Given the description of an element on the screen output the (x, y) to click on. 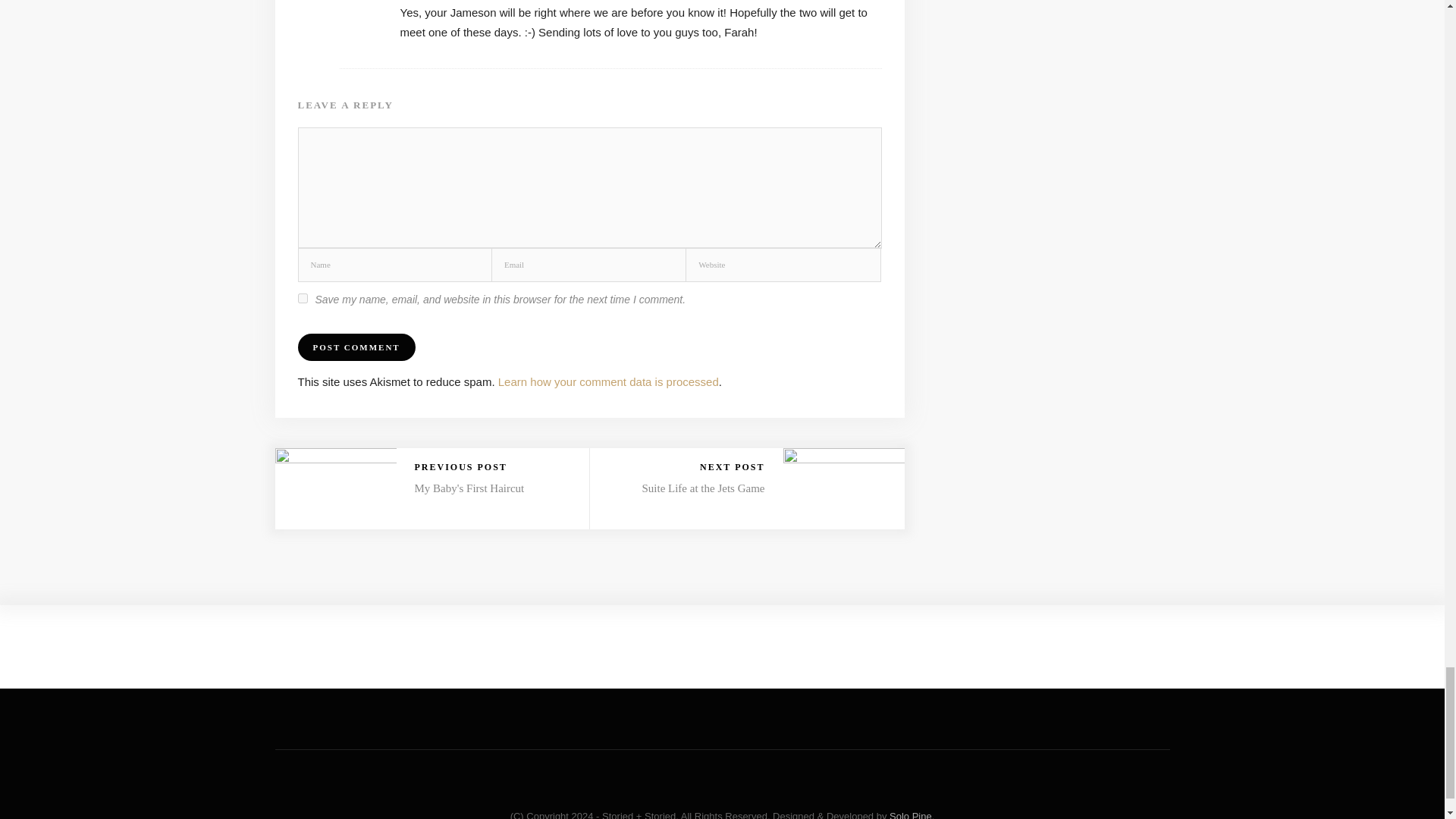
Post Comment (355, 347)
yes (302, 298)
